Given the description of an element on the screen output the (x, y) to click on. 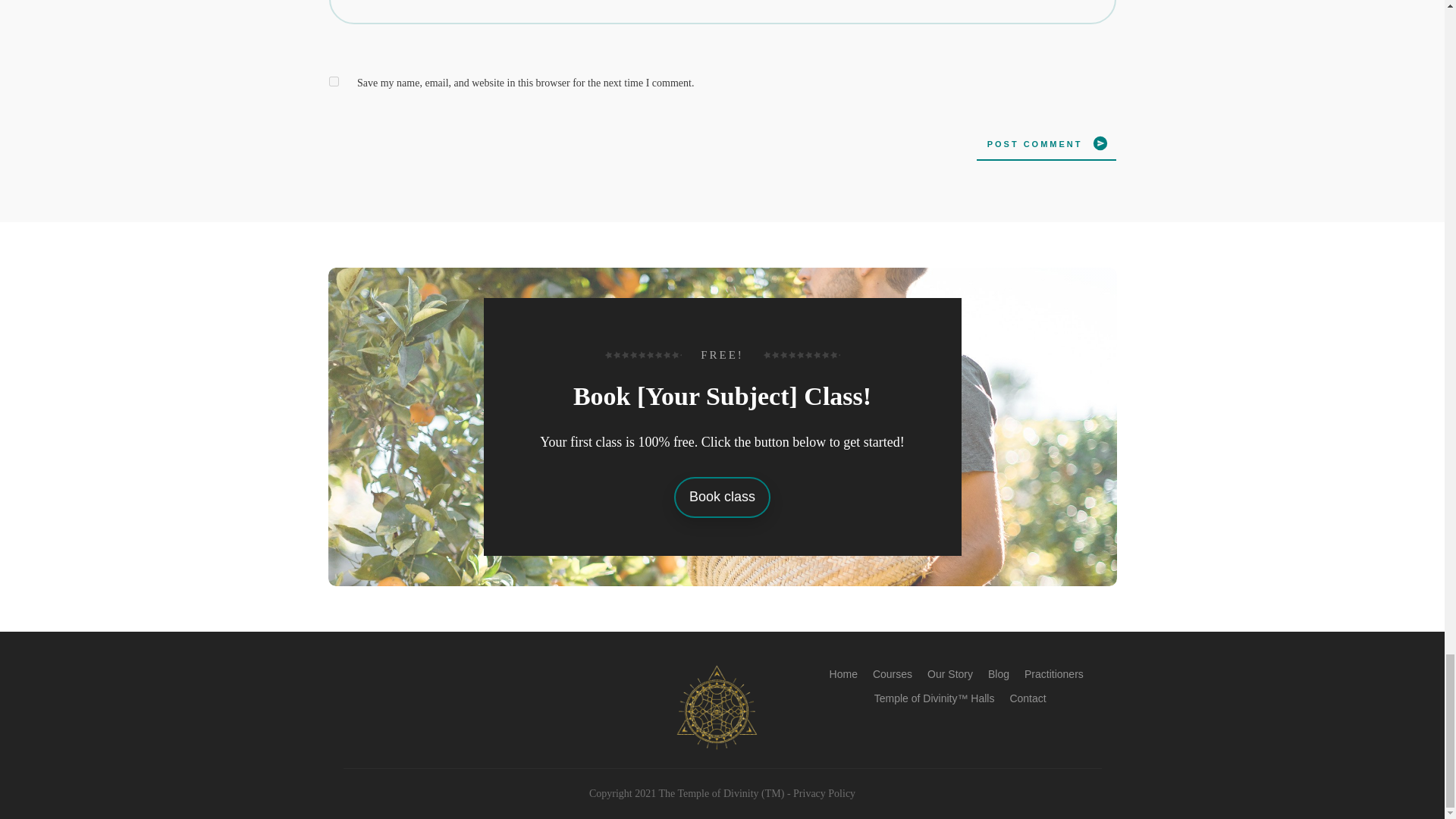
POST COMMENT (1046, 143)
Our Story (949, 673)
Blog (998, 673)
Contact (1027, 698)
Book class (722, 496)
Courses (892, 673)
yes (334, 81)
Home (843, 673)
Privacy Policy (824, 793)
Practitioners (1054, 673)
